Given the description of an element on the screen output the (x, y) to click on. 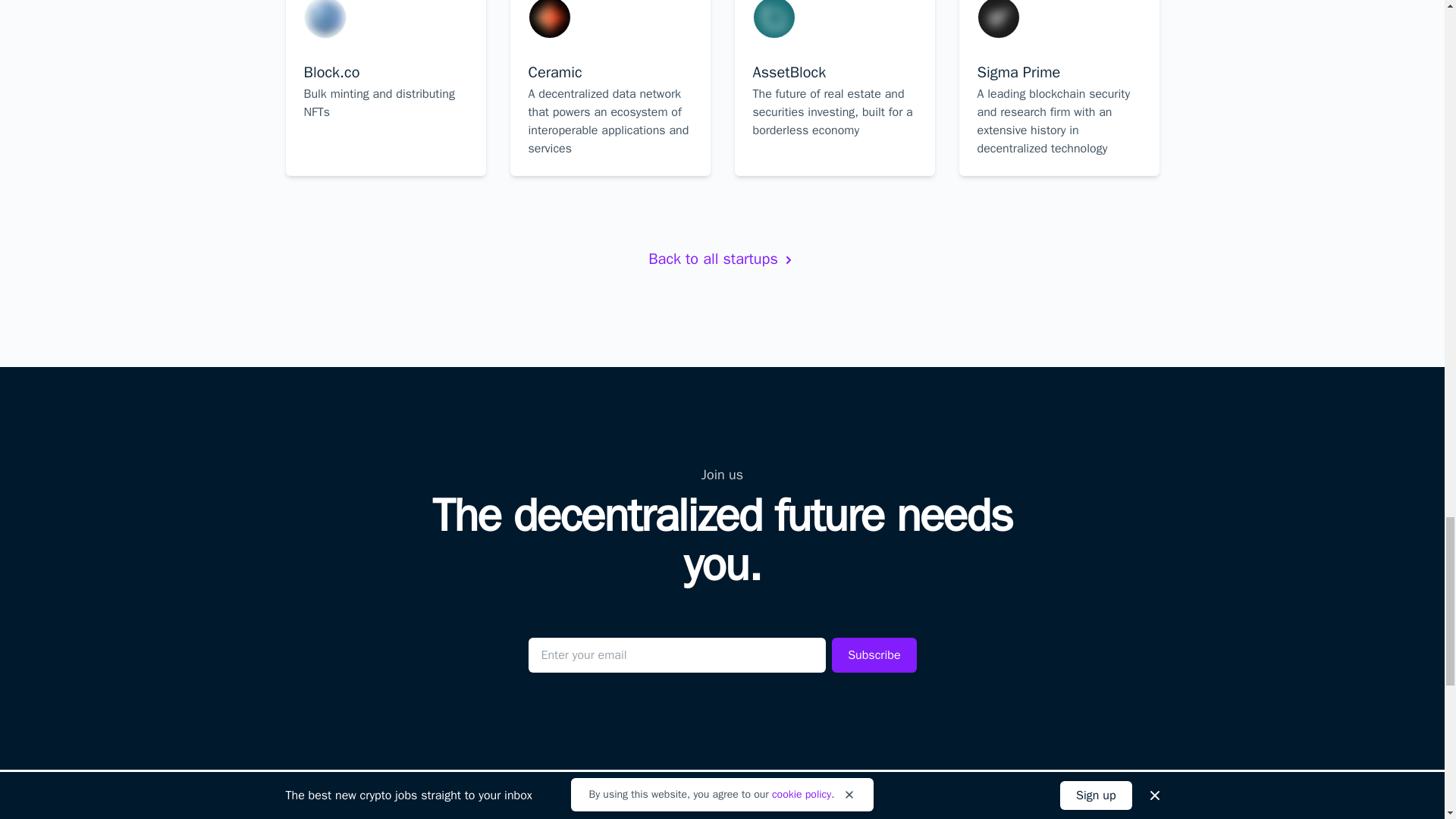
Your email address (676, 655)
Subscribe (873, 655)
Back to all startups (384, 88)
